Given the description of an element on the screen output the (x, y) to click on. 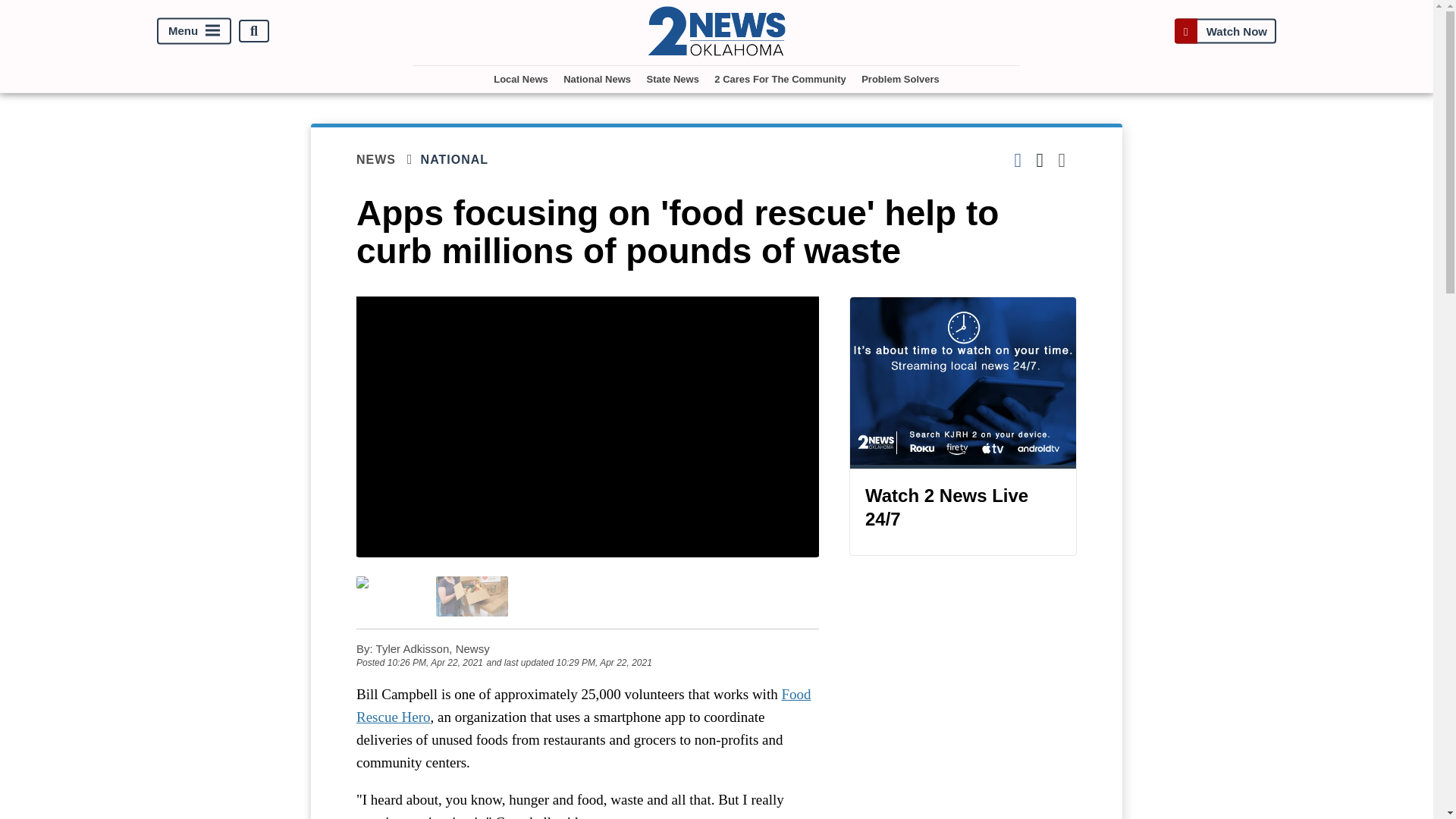
Menu (194, 31)
Watch Now (1224, 31)
